Given the description of an element on the screen output the (x, y) to click on. 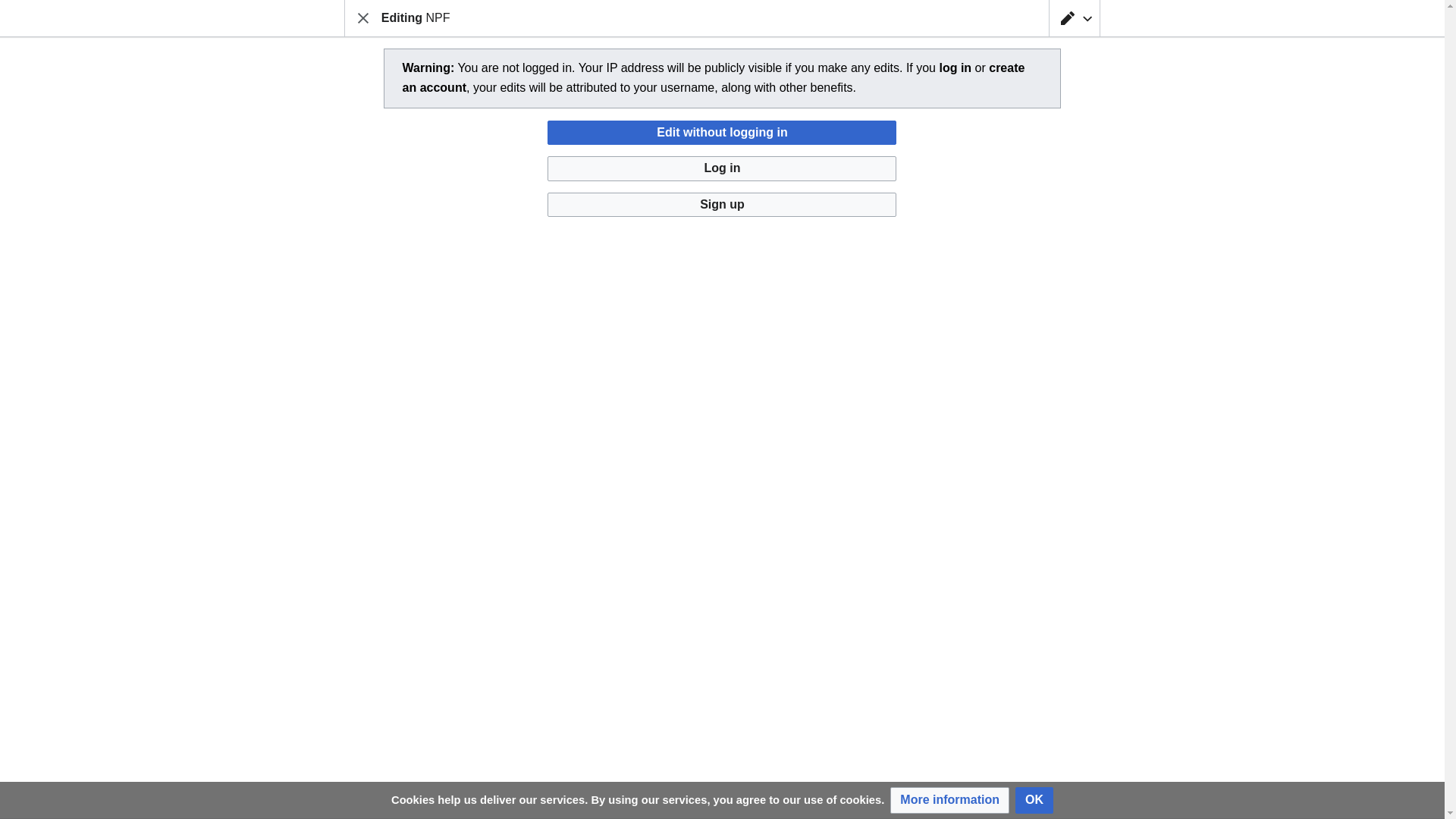
Close Element type: text (363, 18)
NPF Element type: text (372, 100)
Edit without logging in Element type: text (721, 132)
NPF Element type: text (409, 636)
user preferences Element type: text (1016, 158)
OK Element type: text (1034, 800)
Desktop Element type: text (448, 787)
Switch editor Element type: hover (1074, 18)
Sign up Element type: text (721, 204)
Search Ft Wm, Inv & Tor CC [alt-shift-f] Element type: hover (635, 20)
More information Element type: text (949, 800)
Log in Element type: text (721, 168)
Privacy policy Element type: text (378, 787)
